Given the description of an element on the screen output the (x, y) to click on. 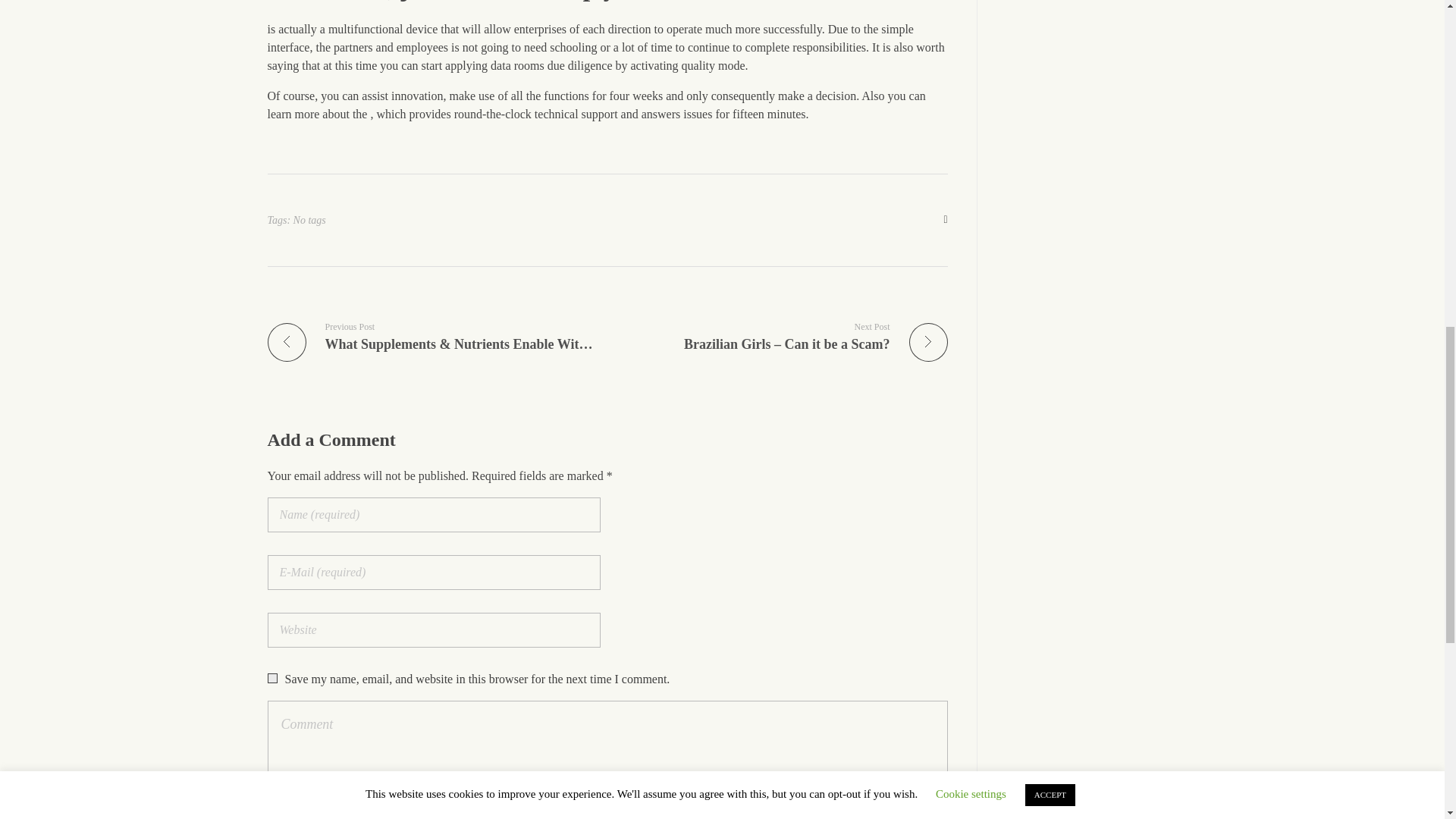
yes (271, 678)
